Given the description of an element on the screen output the (x, y) to click on. 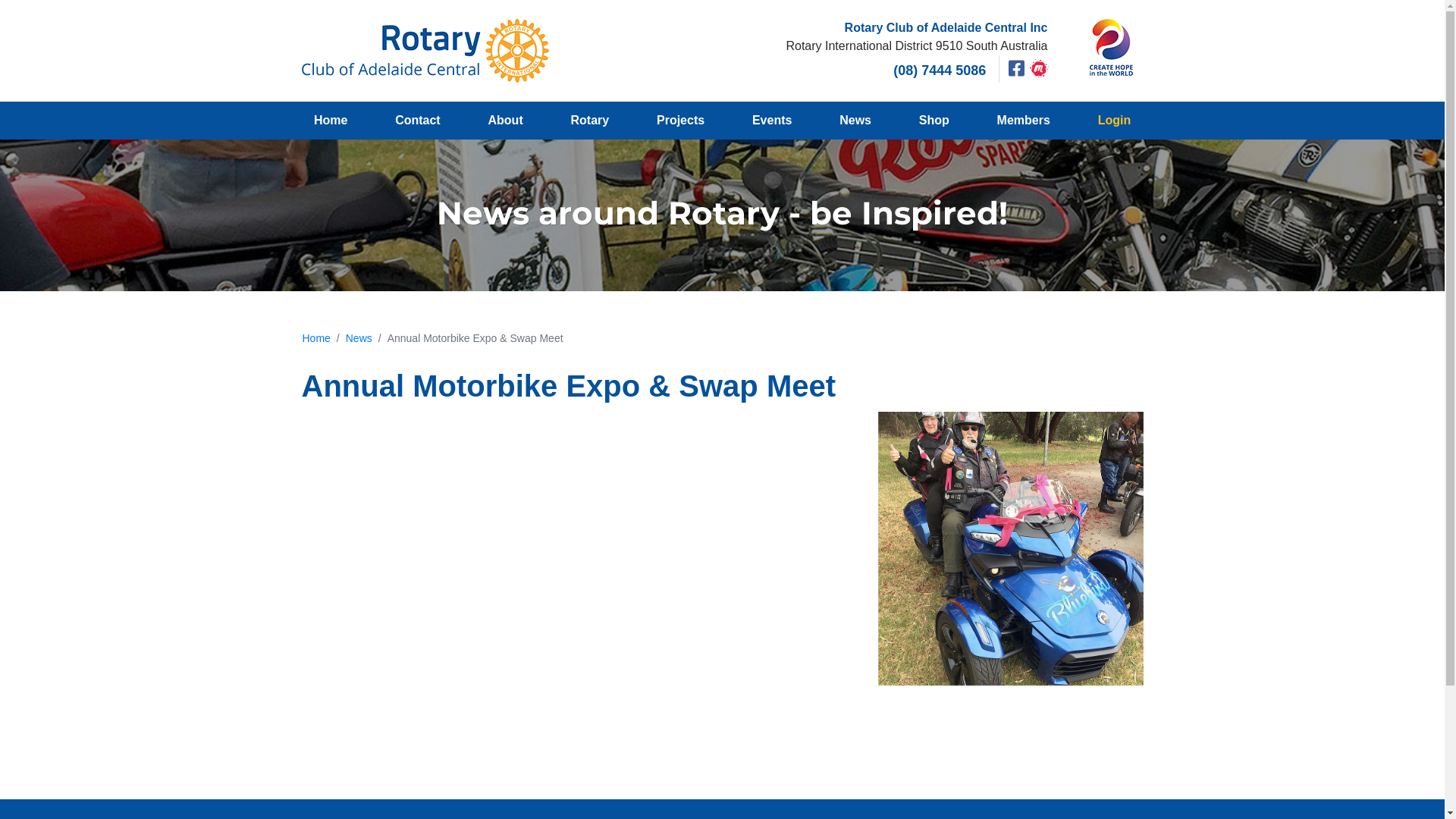
Members Element type: text (1022, 120)
News Element type: text (855, 120)
Login Element type: text (1113, 120)
Home
(current) Element type: text (329, 120)
Projects Element type: text (680, 120)
Contact Element type: text (417, 120)
Events Element type: text (771, 120)
About Element type: text (505, 120)
Rotary Element type: text (589, 120)
Home Element type: text (315, 338)
News Element type: text (358, 338)
Shop Element type: text (933, 120)
